Given the description of an element on the screen output the (x, y) to click on. 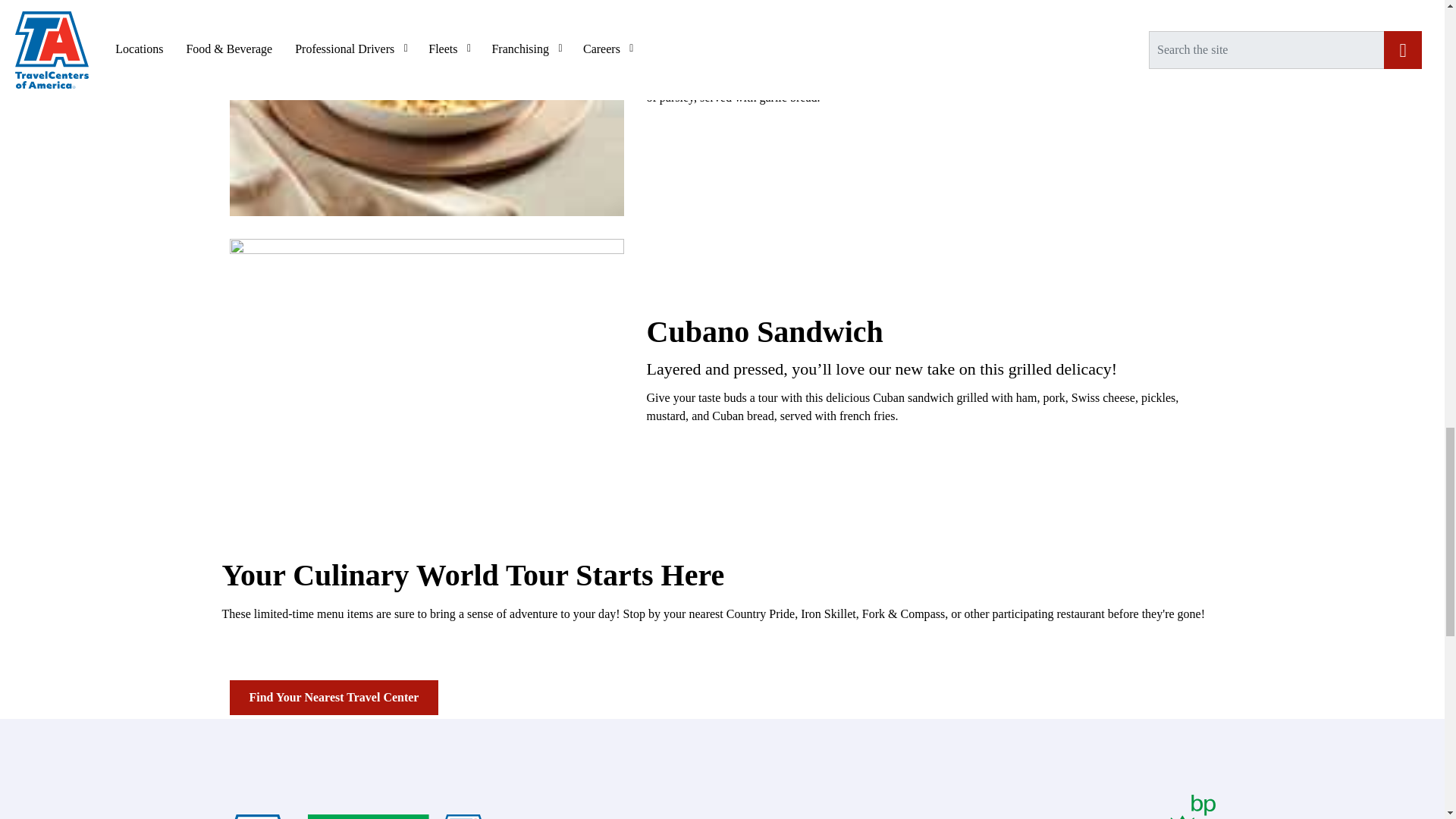
Find Your Nearest Travel Center (333, 697)
